Given the description of an element on the screen output the (x, y) to click on. 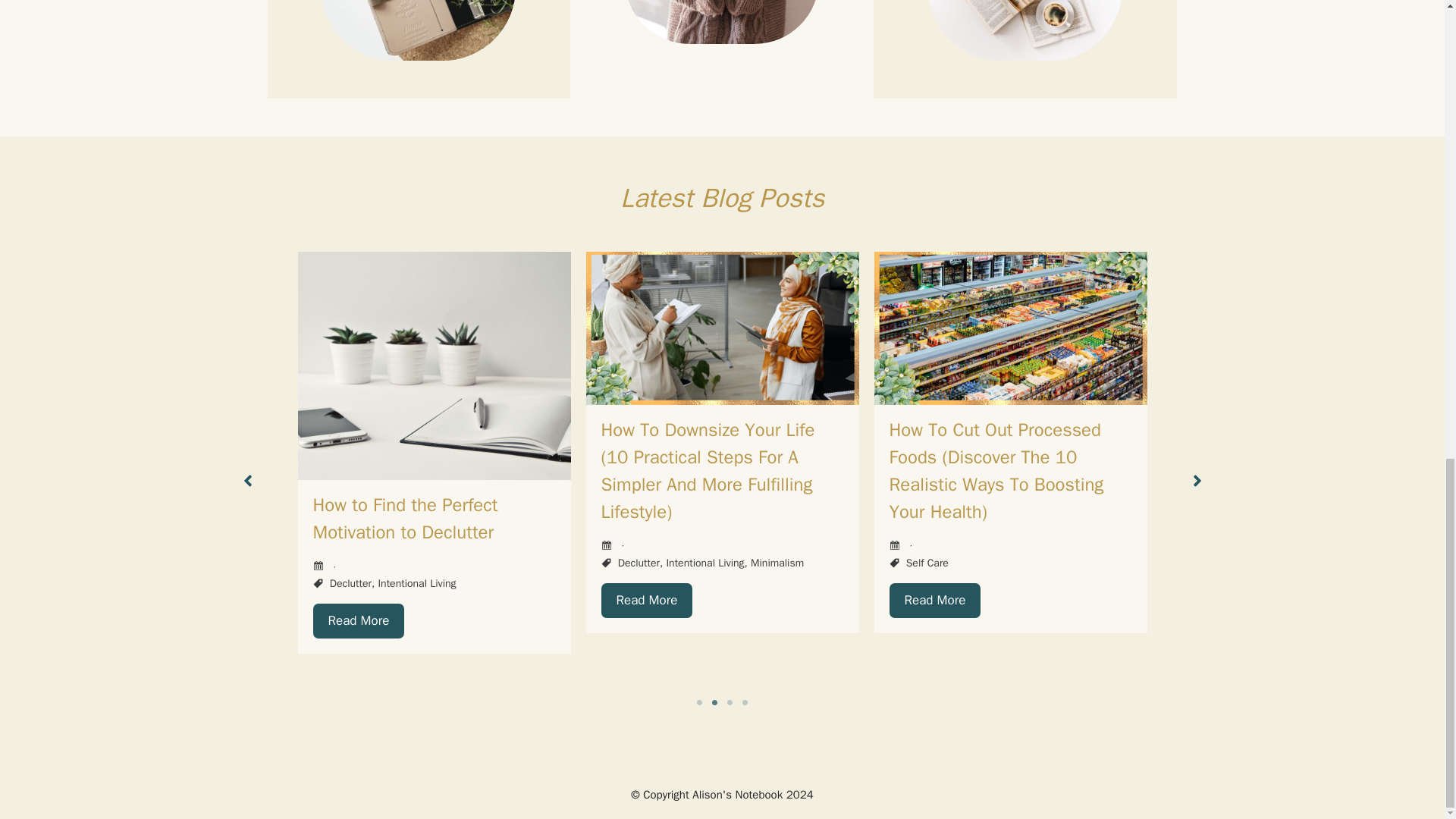
Blog (722, 196)
Scroll back to top (1406, 488)
Latest Blog Posts (722, 196)
